Given the description of an element on the screen output the (x, y) to click on. 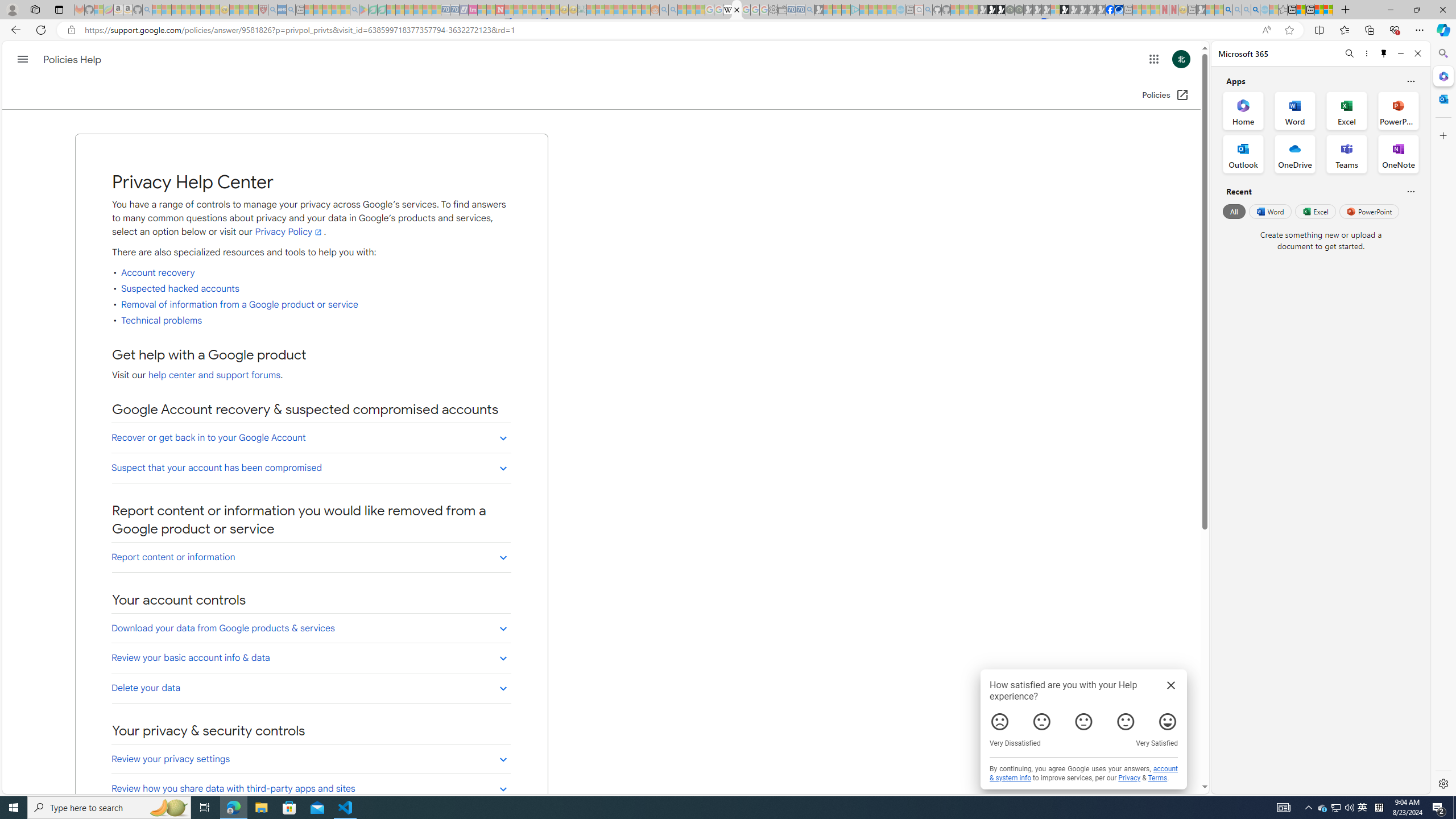
Smiley 2 of 5. Somewhat dissatisfied (1041, 721)
Main menu (22, 58)
PowerPoint Office App (1398, 110)
Word (1269, 210)
Report content or information (311, 557)
Smiley 5 of 5. Very satisfied Very Satisfied (1167, 721)
Outlook Office App (1243, 154)
